Given the description of an element on the screen output the (x, y) to click on. 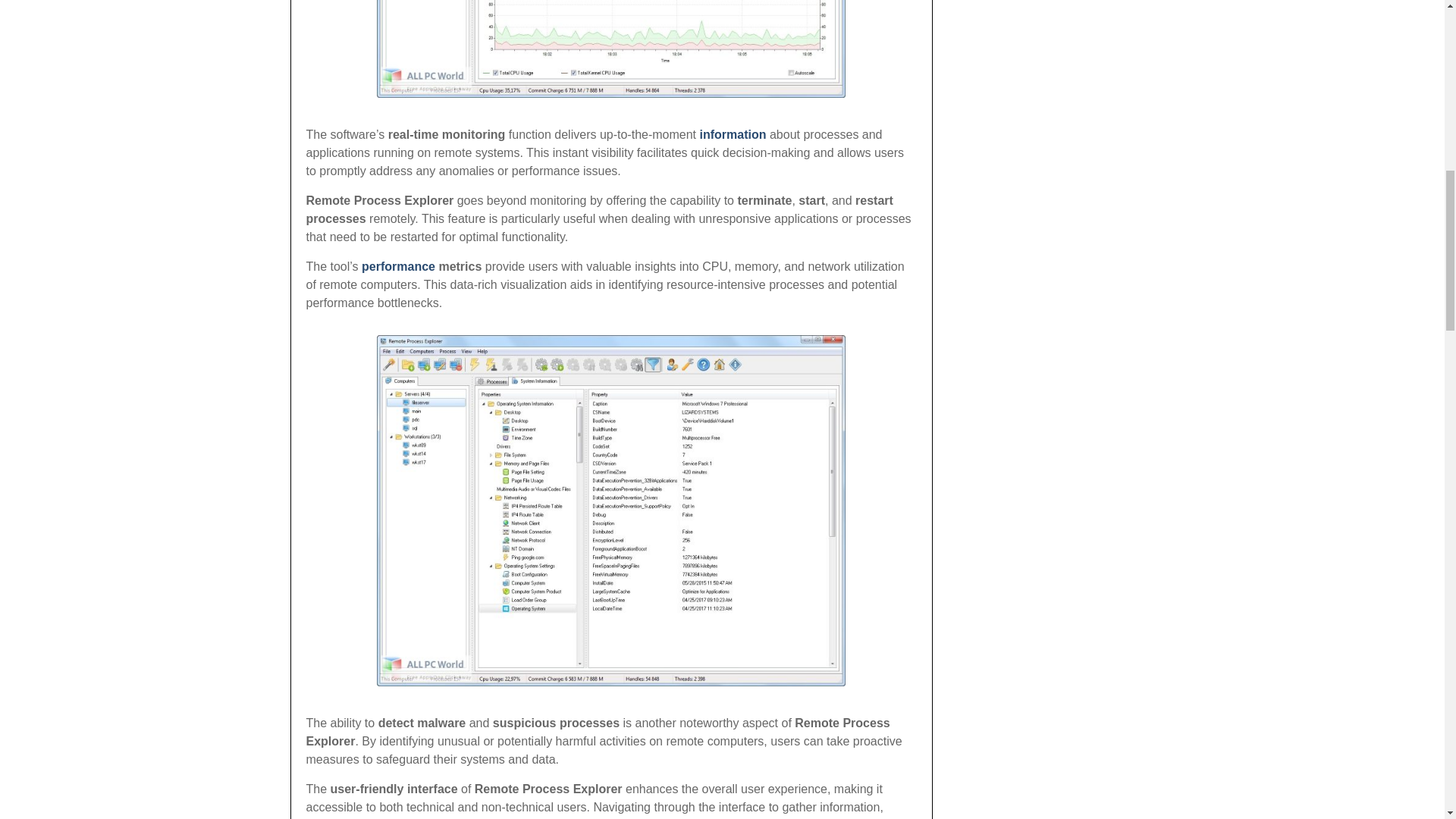
performance (398, 265)
information (733, 133)
